Given the description of an element on the screen output the (x, y) to click on. 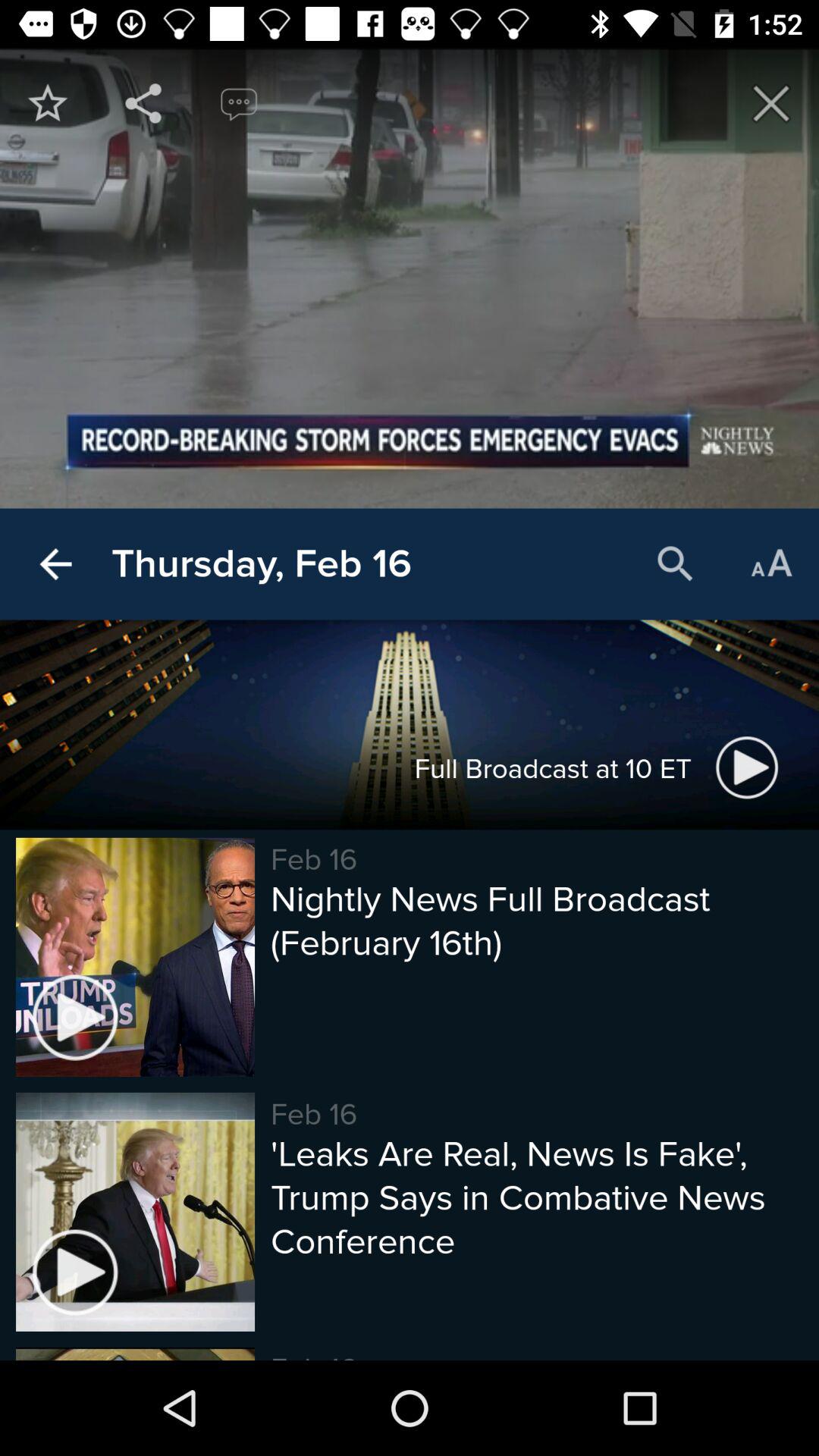
see video comments (238, 103)
